Given the description of an element on the screen output the (x, y) to click on. 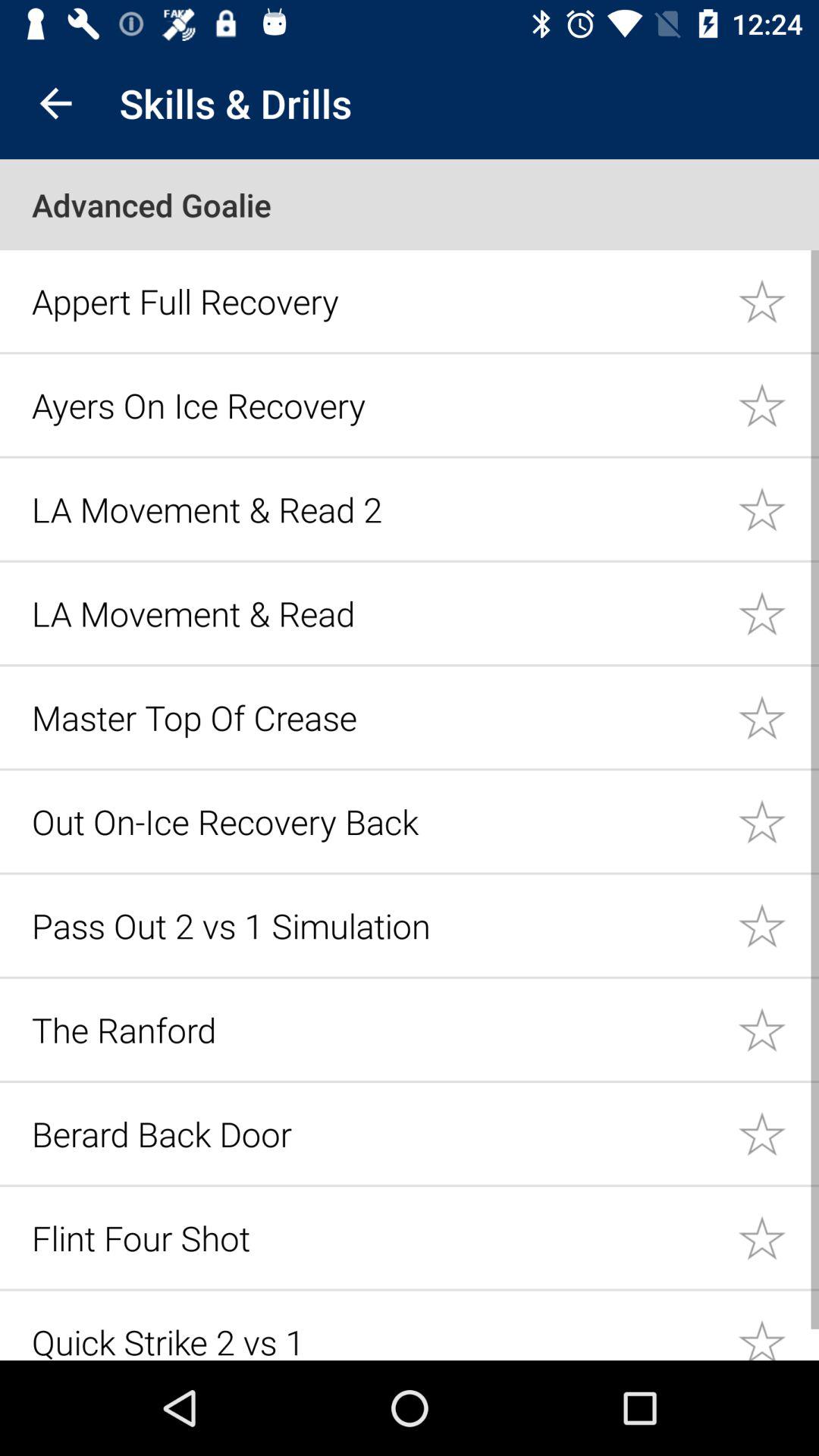
bookmark drill (778, 300)
